Given the description of an element on the screen output the (x, y) to click on. 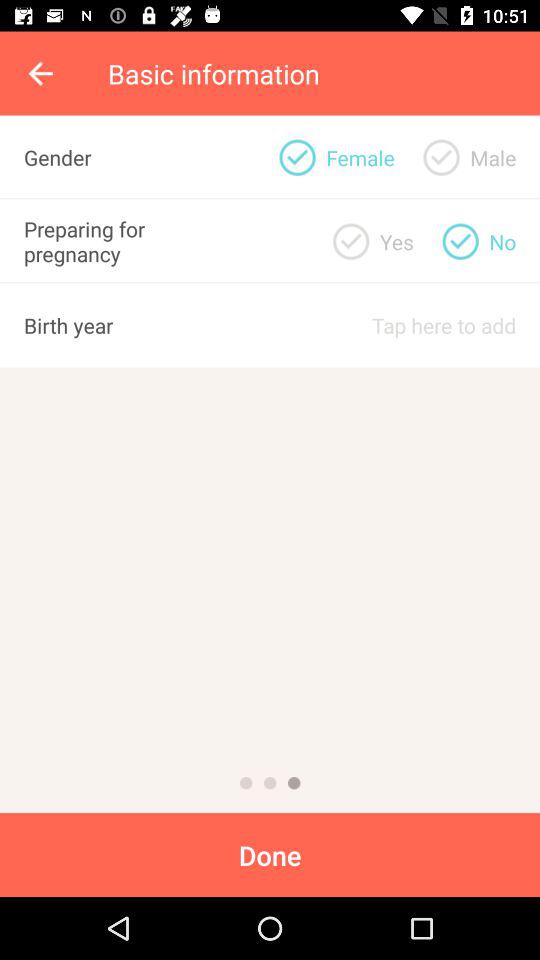
go to second screen go to previous screen (270, 783)
